Given the description of an element on the screen output the (x, y) to click on. 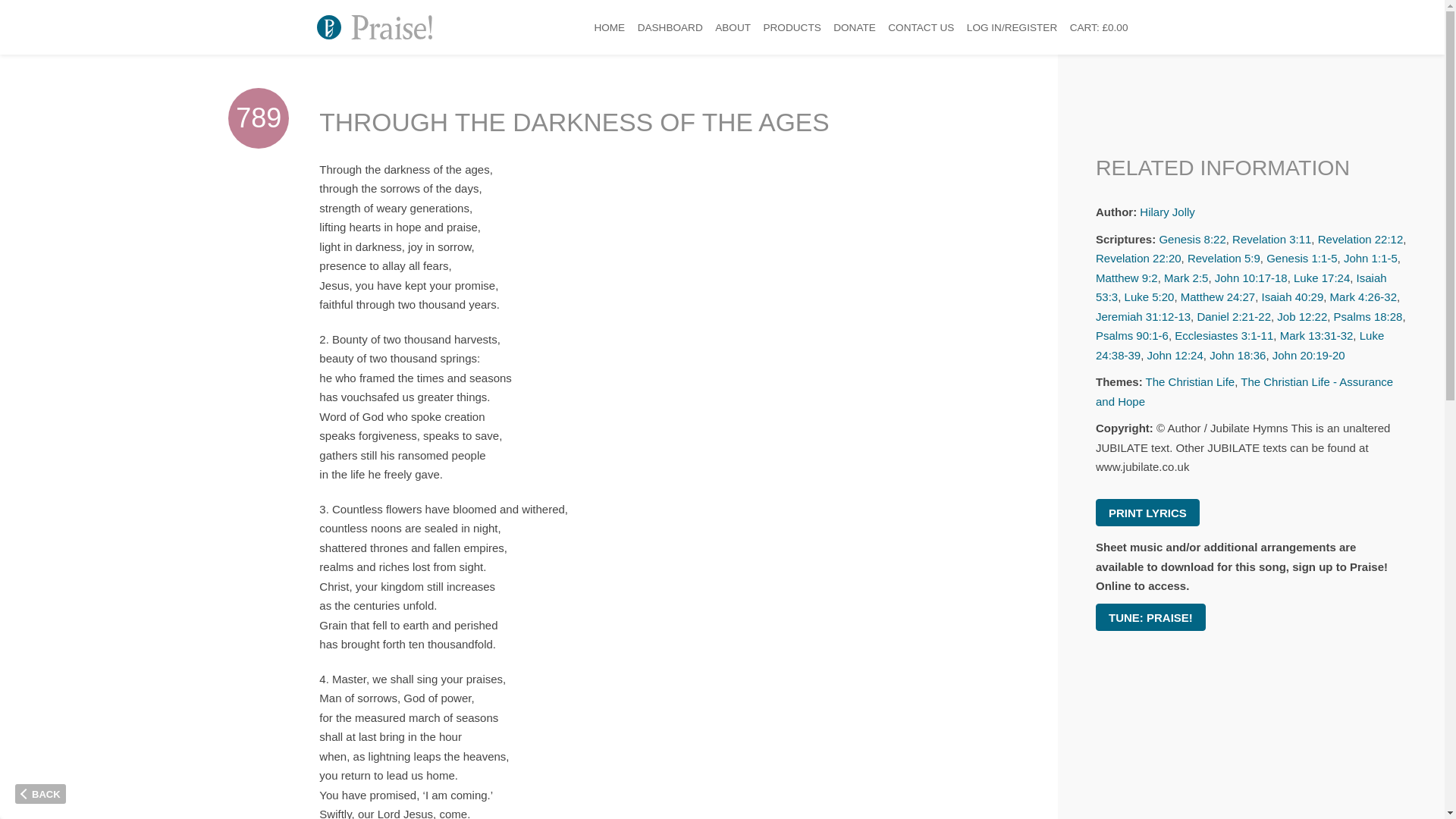
Genesis 8:22 (1191, 238)
Jeremiah 31:12-13 (1143, 316)
The Christian Life (1189, 381)
Revelation 22:12 (1360, 238)
Cart Total (1099, 27)
Isaiah 40:29 (1292, 296)
Luke 5:20 (1149, 296)
Isaiah 53:3 (1241, 287)
John 18:36 (1237, 354)
Hilary Jolly (1167, 211)
Revelation 3:11 (1271, 238)
Ecclesiastes 3:1-11 (1223, 335)
Luke 24:38-39 (1240, 345)
Psalms 18:28 (1368, 316)
John 12:24 (1175, 354)
